Given the description of an element on the screen output the (x, y) to click on. 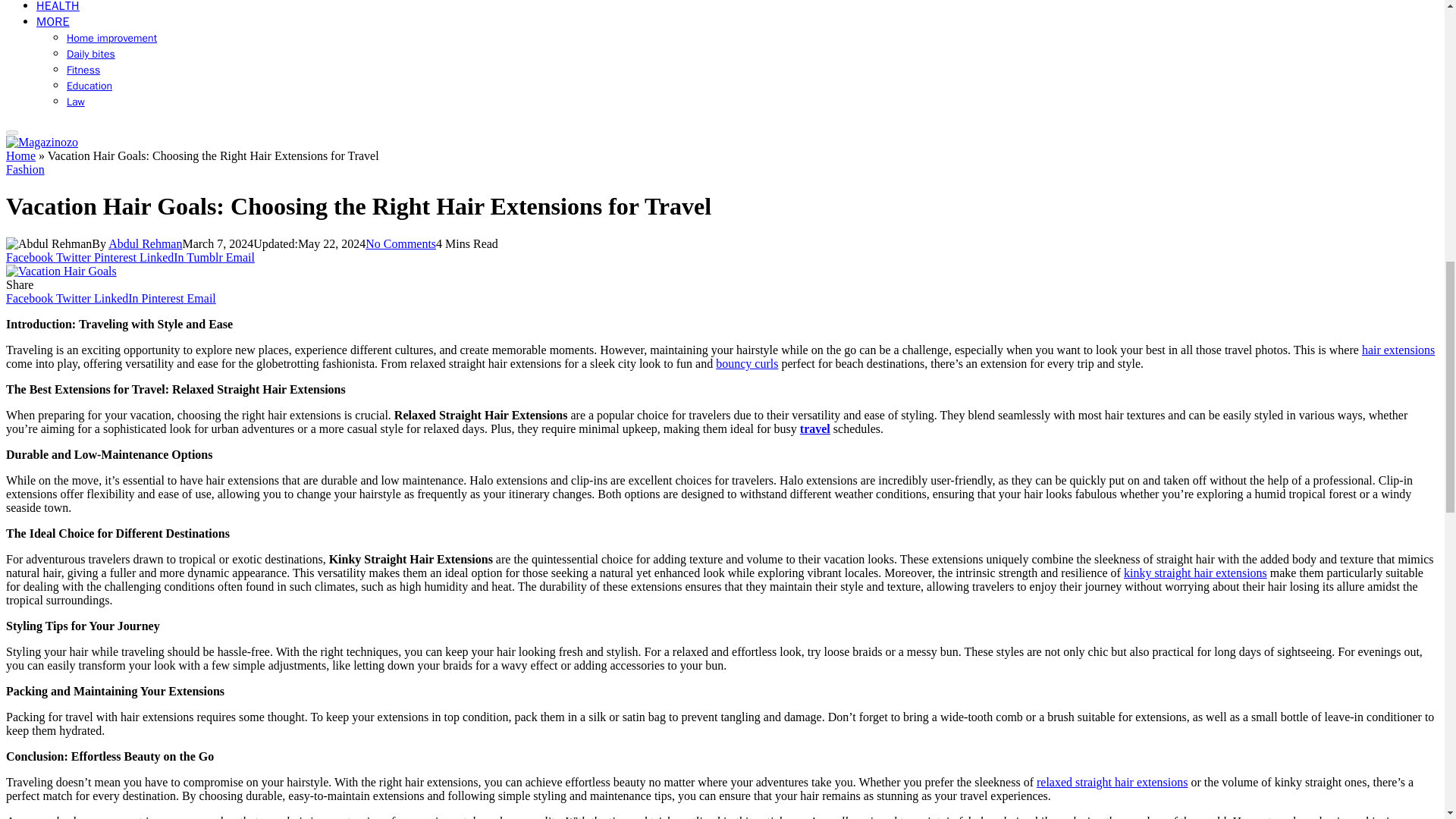
HEALTH (58, 6)
Share on Tumblr (205, 256)
Share on LinkedIn (162, 256)
Twitter (75, 297)
Magazinozo (41, 141)
Posts by Abdul Rehman (144, 243)
Facebook (30, 297)
Share via Email (239, 256)
Share on Pinterest (116, 256)
